Given the description of an element on the screen output the (x, y) to click on. 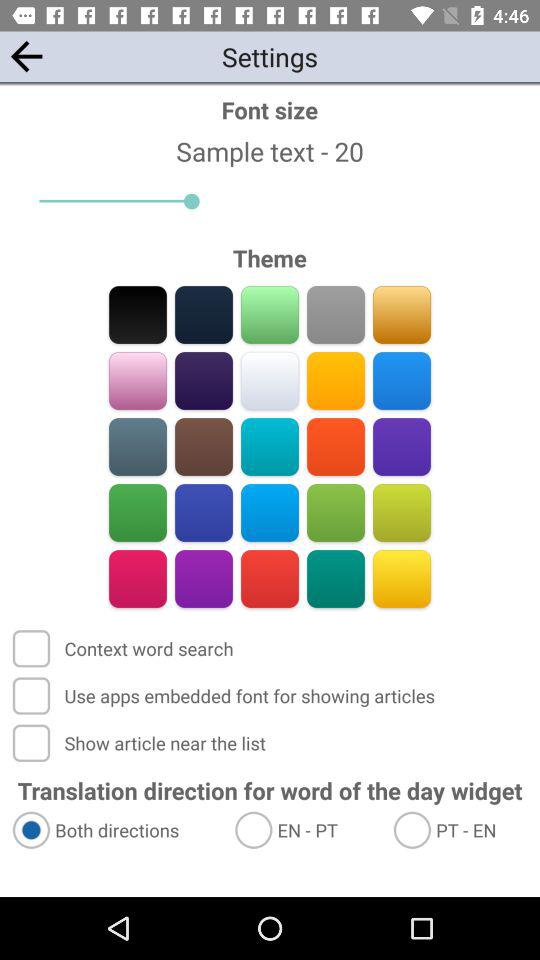
change theme to pink (137, 578)
